Given the description of an element on the screen output the (x, y) to click on. 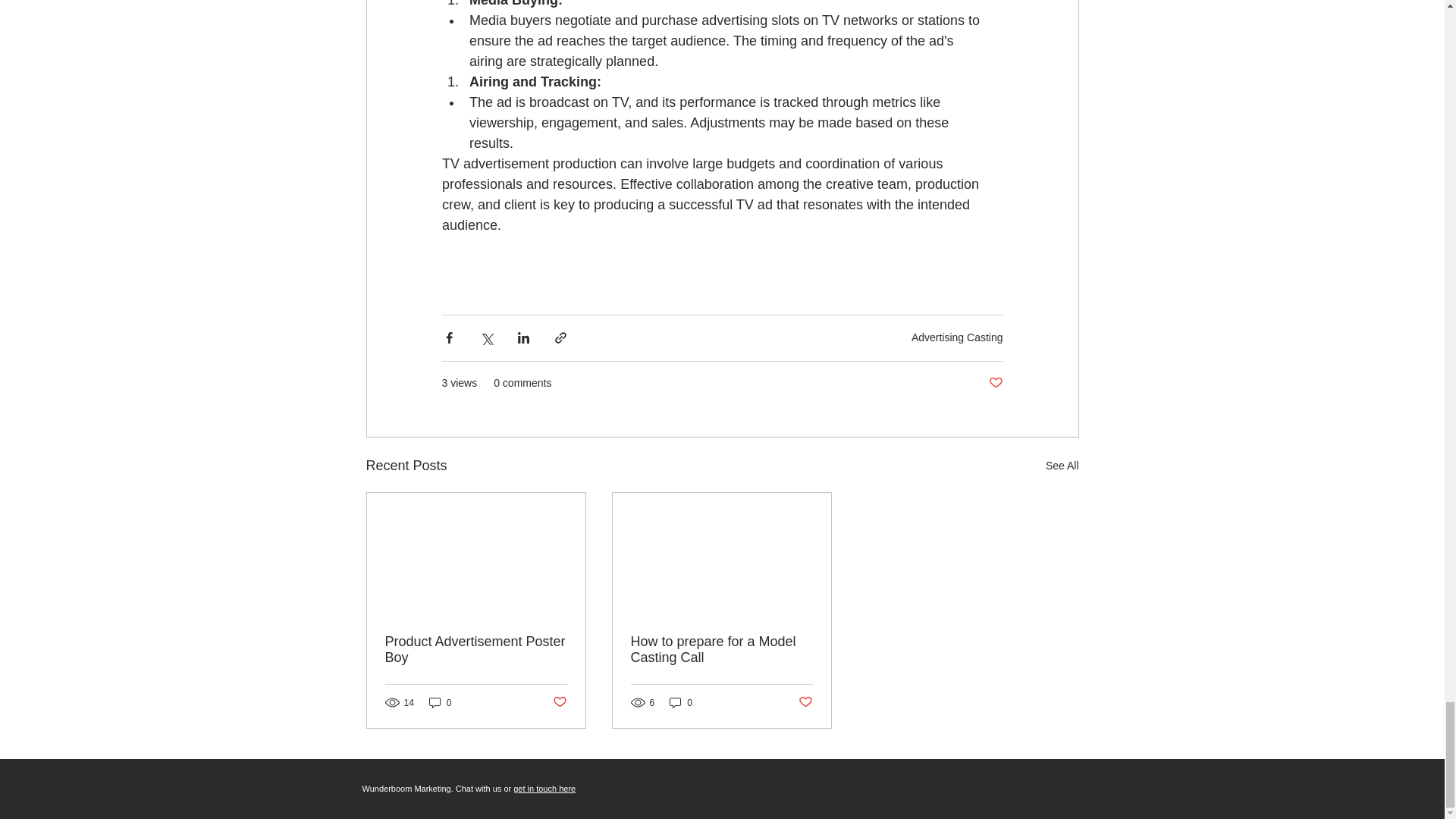
Post not marked as liked (804, 702)
Post not marked as liked (558, 702)
How to prepare for a Model Casting Call (721, 649)
get in touch here (544, 788)
0 (681, 702)
0 (440, 702)
Product Advertisement Poster Boy (476, 649)
Advertising Casting (957, 337)
See All (1061, 465)
Post not marked as liked (995, 383)
